Given the description of an element on the screen output the (x, y) to click on. 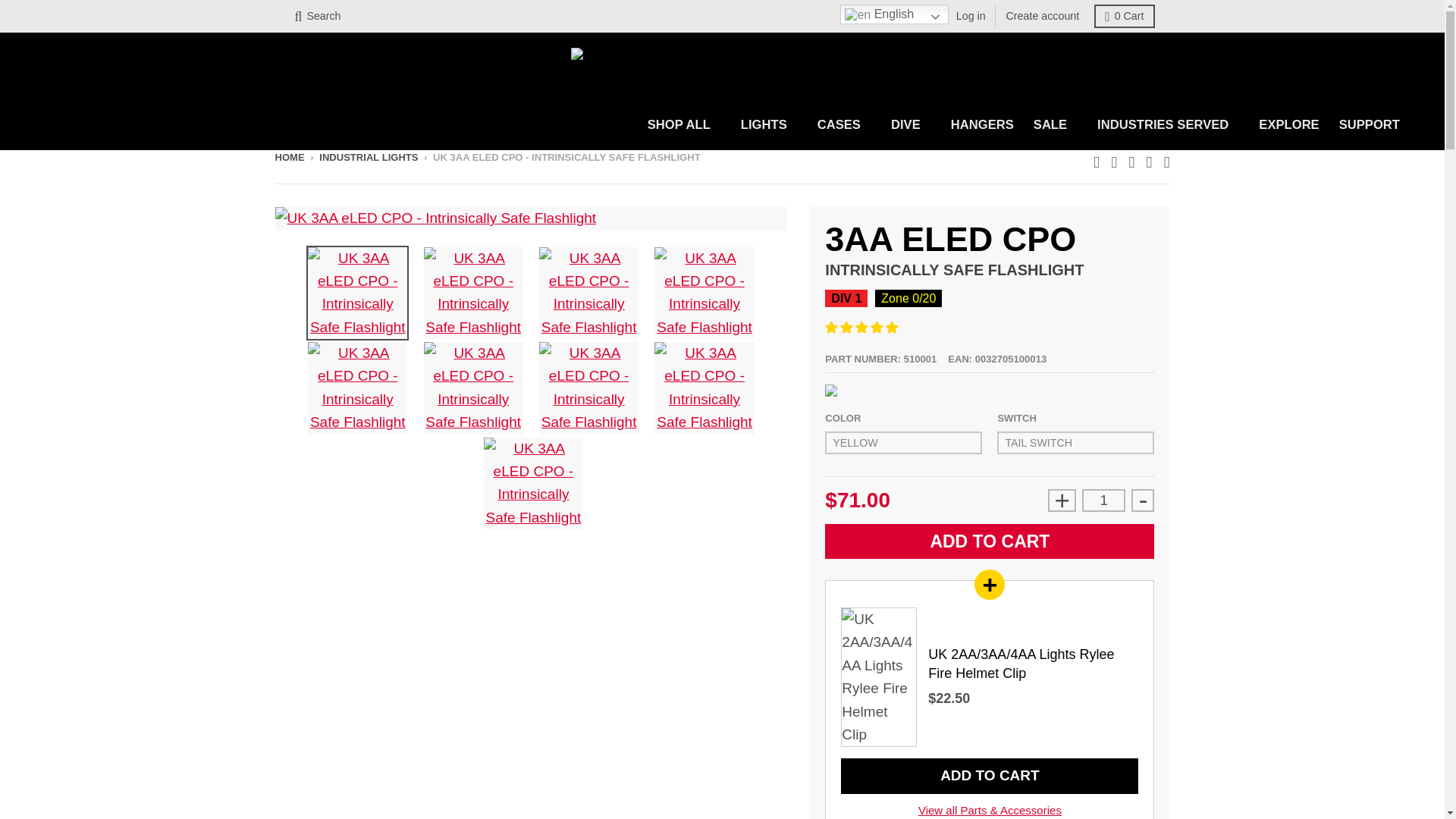
LIGHTS (769, 124)
1 (1103, 499)
Search (317, 15)
YouTube video player (518, 693)
Back to the frontpage (289, 156)
SHOP ALL (683, 124)
Create account (1042, 15)
CASES (844, 124)
0 Cart (1124, 15)
English (894, 14)
